Given the description of an element on the screen output the (x, y) to click on. 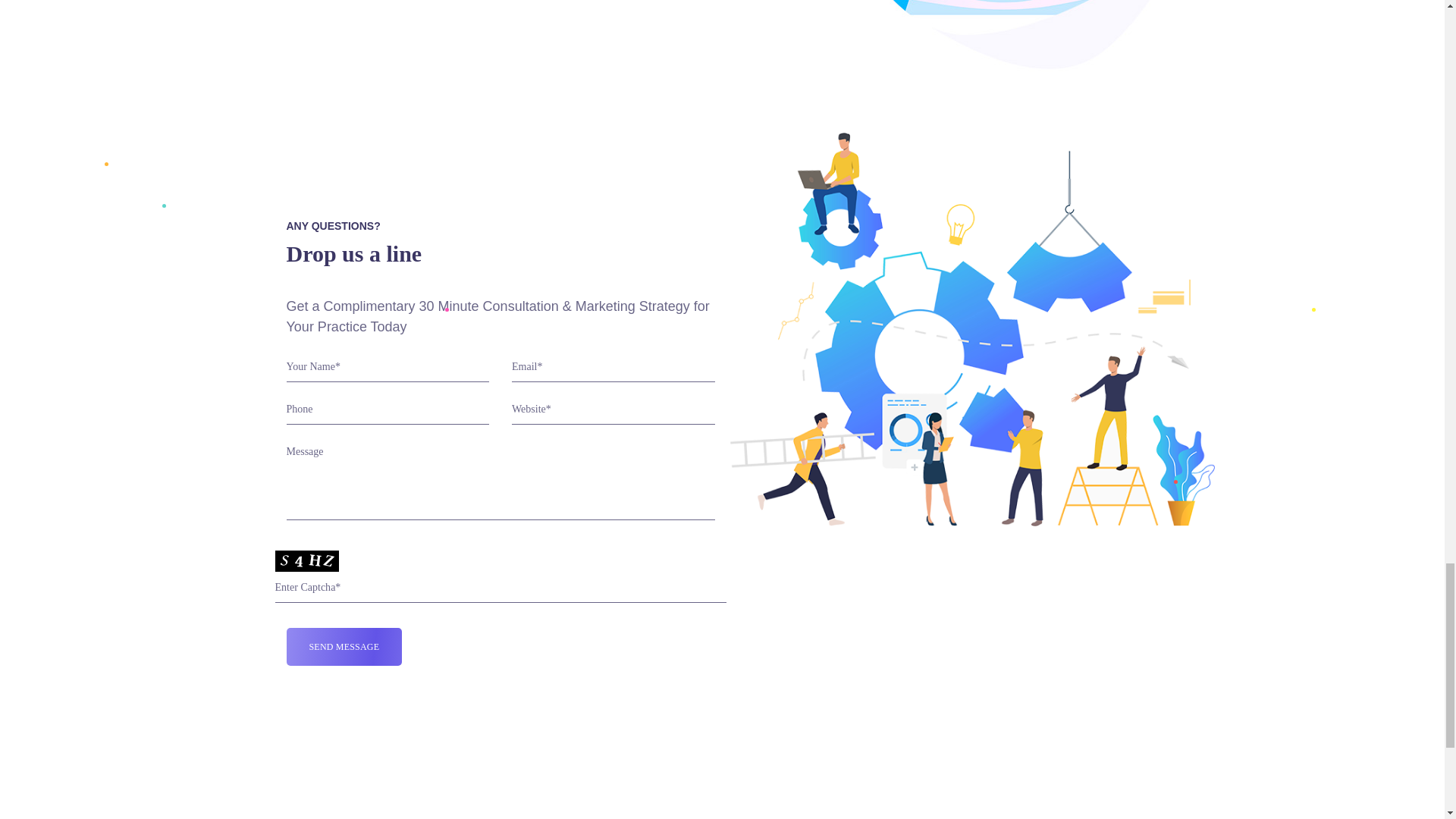
Send Message (344, 646)
